Given the description of an element on the screen output the (x, y) to click on. 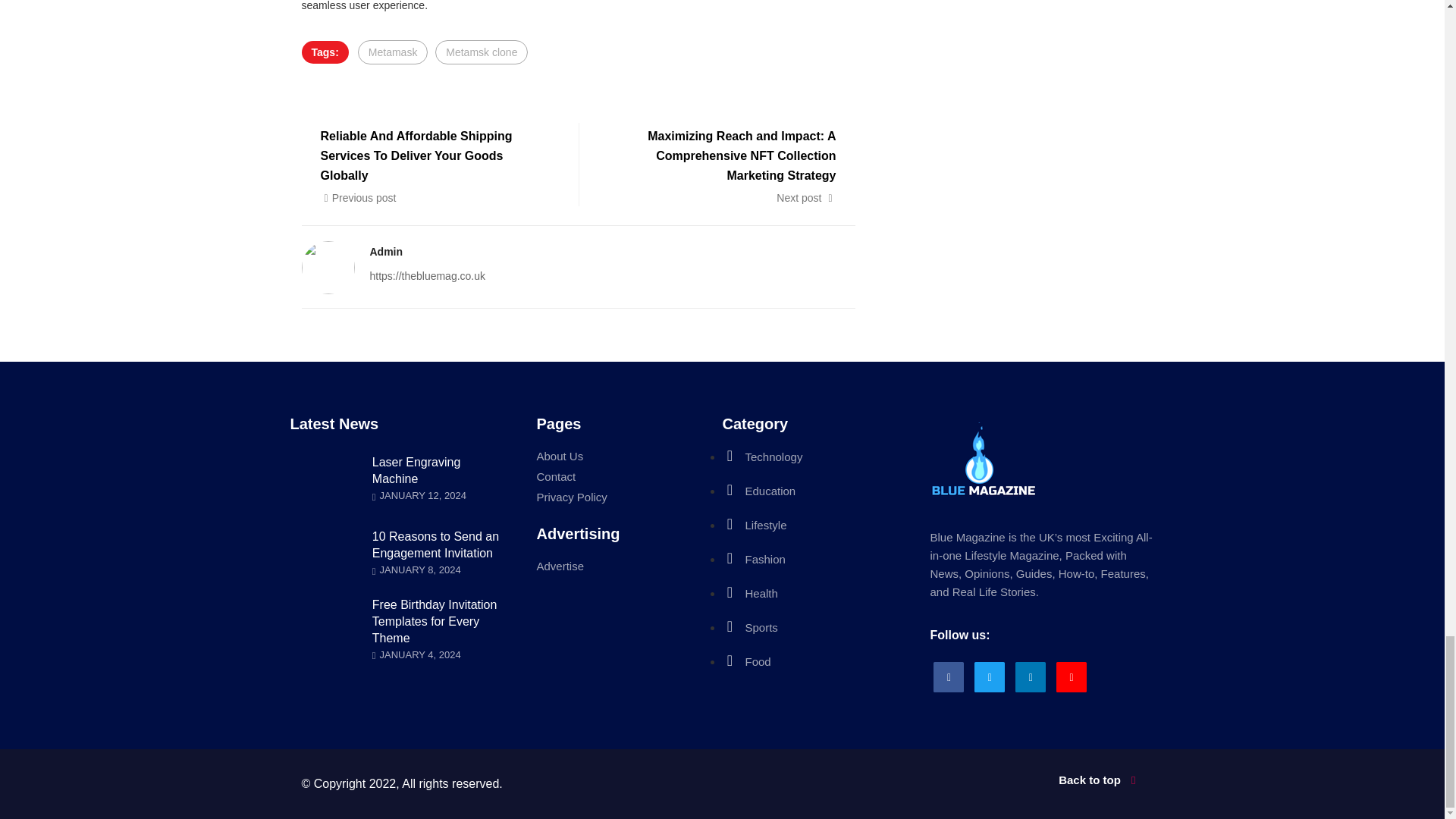
Free Birthday Invitation Templates for Every Theme in 2024 (434, 621)
Laser Engraving Machine (416, 470)
Metamask (393, 52)
Metamsk clone (481, 52)
10 Reasons to Send an Engagement Invitation Message (435, 544)
Back to top (937, 780)
